Given the description of an element on the screen output the (x, y) to click on. 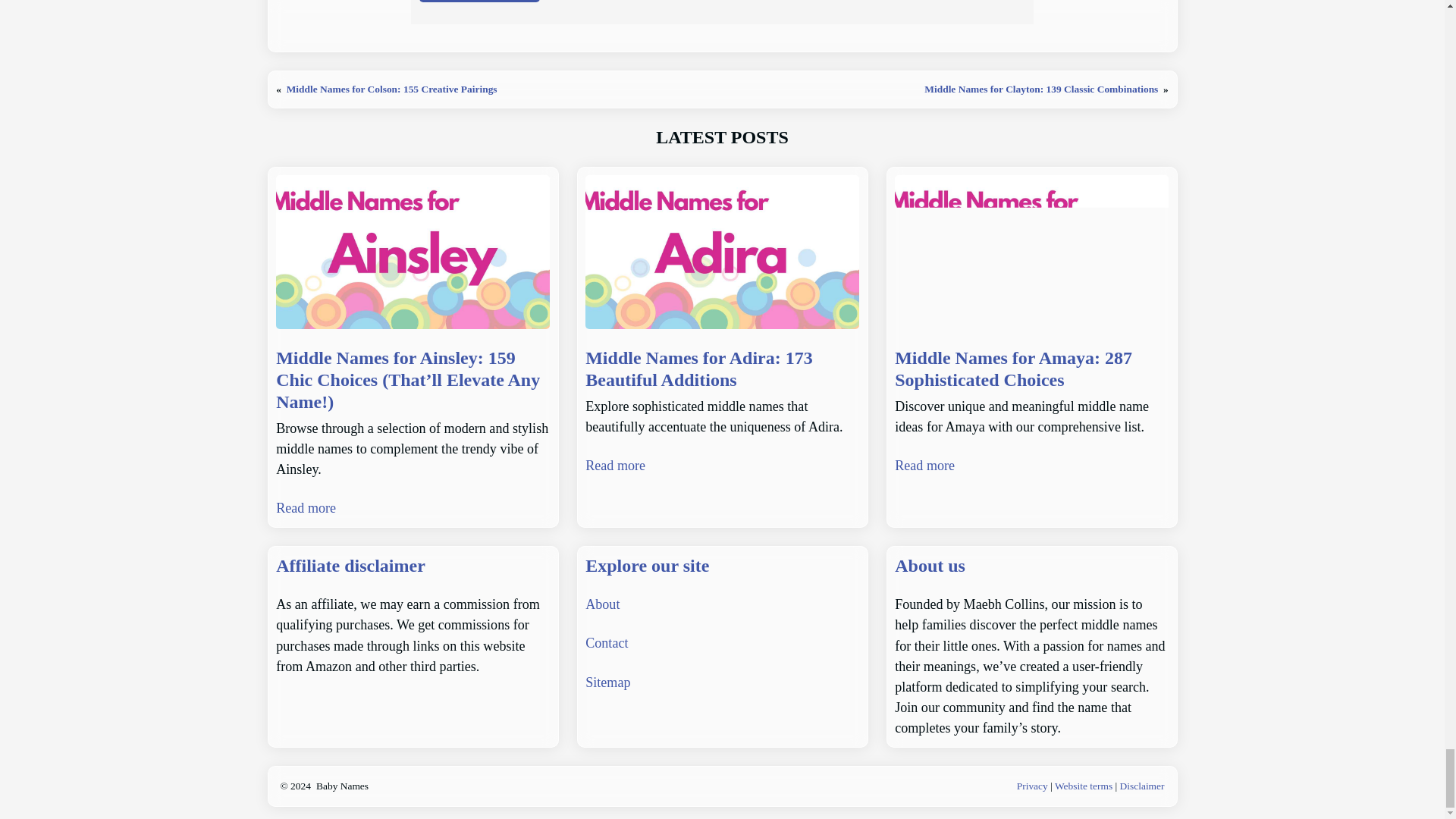
Post Comment (478, 1)
Read more (306, 507)
Contact (606, 642)
Sitemap (607, 682)
Read more (925, 465)
Post Comment (478, 1)
Middle Names for Colson: 155 Creative Pairings (391, 89)
Disclaimer (1141, 785)
Middle Names for Adira: 173 Beautiful Additions (722, 369)
Middle Names for Amaya: 287 Sophisticated Choices (1032, 369)
